Given the description of an element on the screen output the (x, y) to click on. 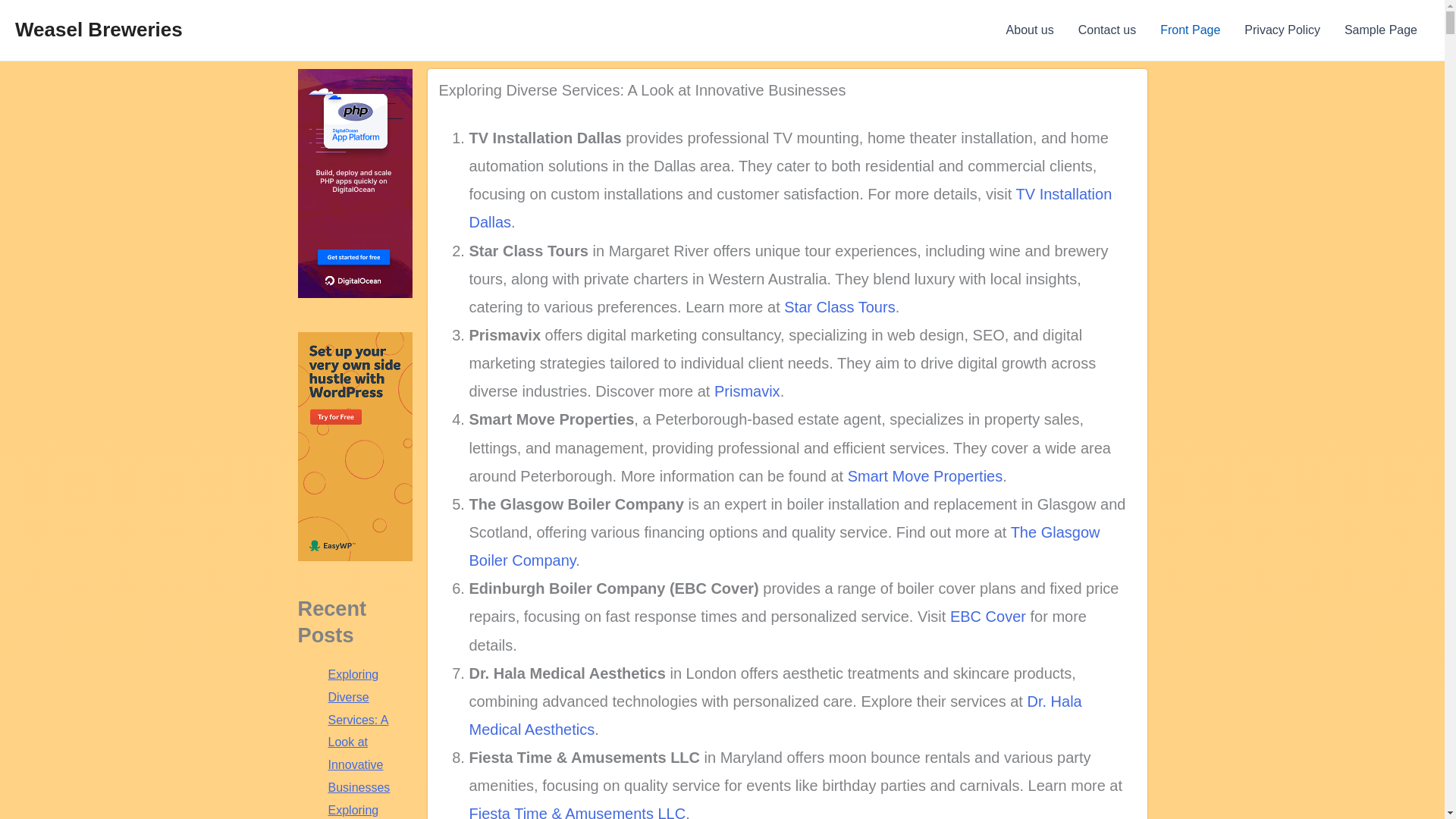
Exploring Diverse Services: Businesses Making an Impact (358, 811)
Star Class Tours (839, 306)
Sample Page (1380, 30)
Weasel Breweries (98, 29)
Privacy Policy (1281, 30)
Contact us (1106, 30)
Exploring Diverse Services: A Look at Innovative Businesses (641, 89)
Front Page (1189, 30)
TV Installation Dallas (790, 207)
About us (1029, 30)
